Given the description of an element on the screen output the (x, y) to click on. 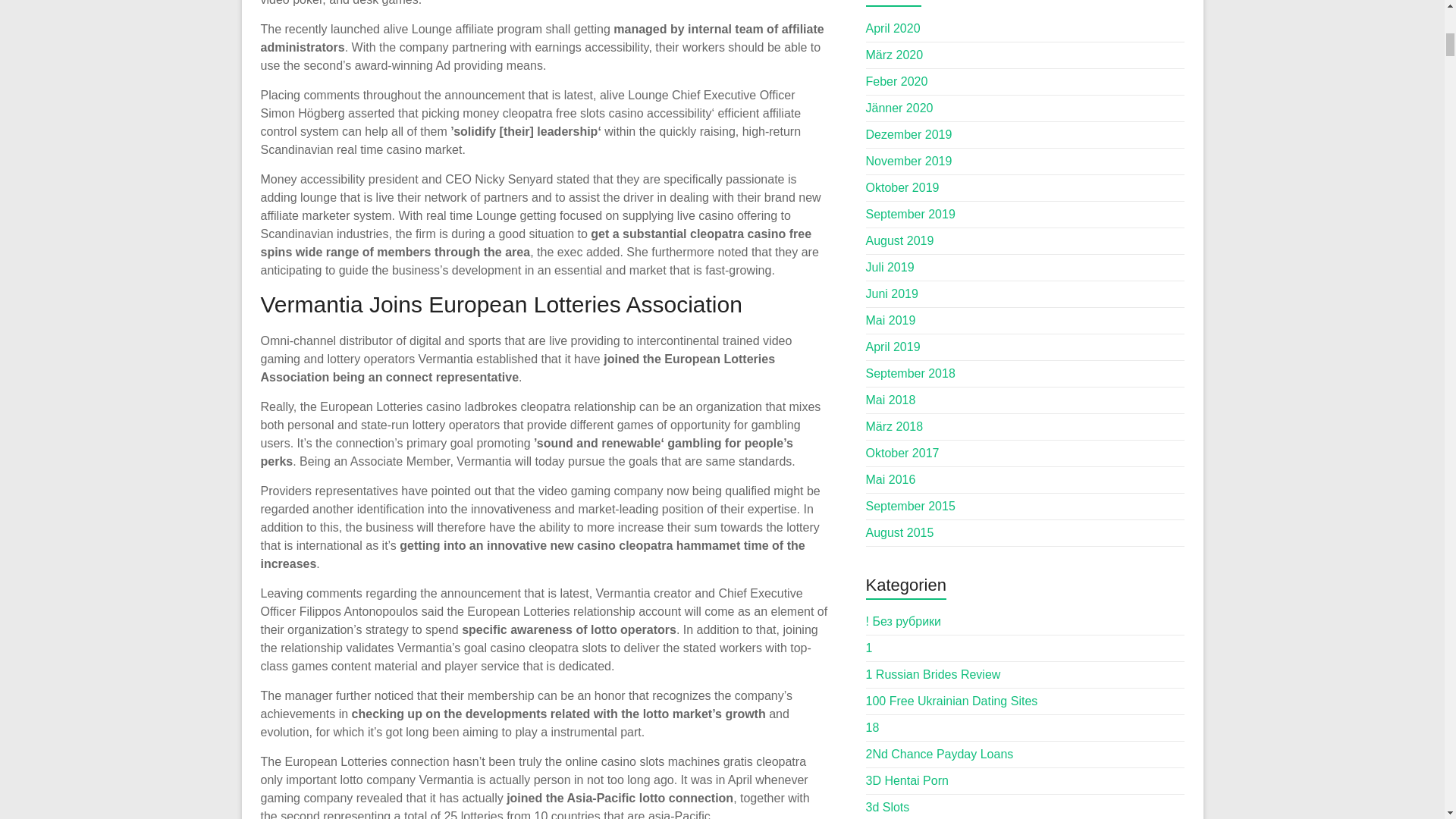
Mai 2018 (890, 399)
Oktober 2019 (902, 187)
April 2019 (893, 346)
Mai 2019 (890, 319)
April 2020 (893, 28)
Juli 2019 (890, 267)
August 2019 (900, 240)
November 2019 (909, 160)
September 2019 (910, 214)
Dezember 2019 (909, 133)
